Given the description of an element on the screen output the (x, y) to click on. 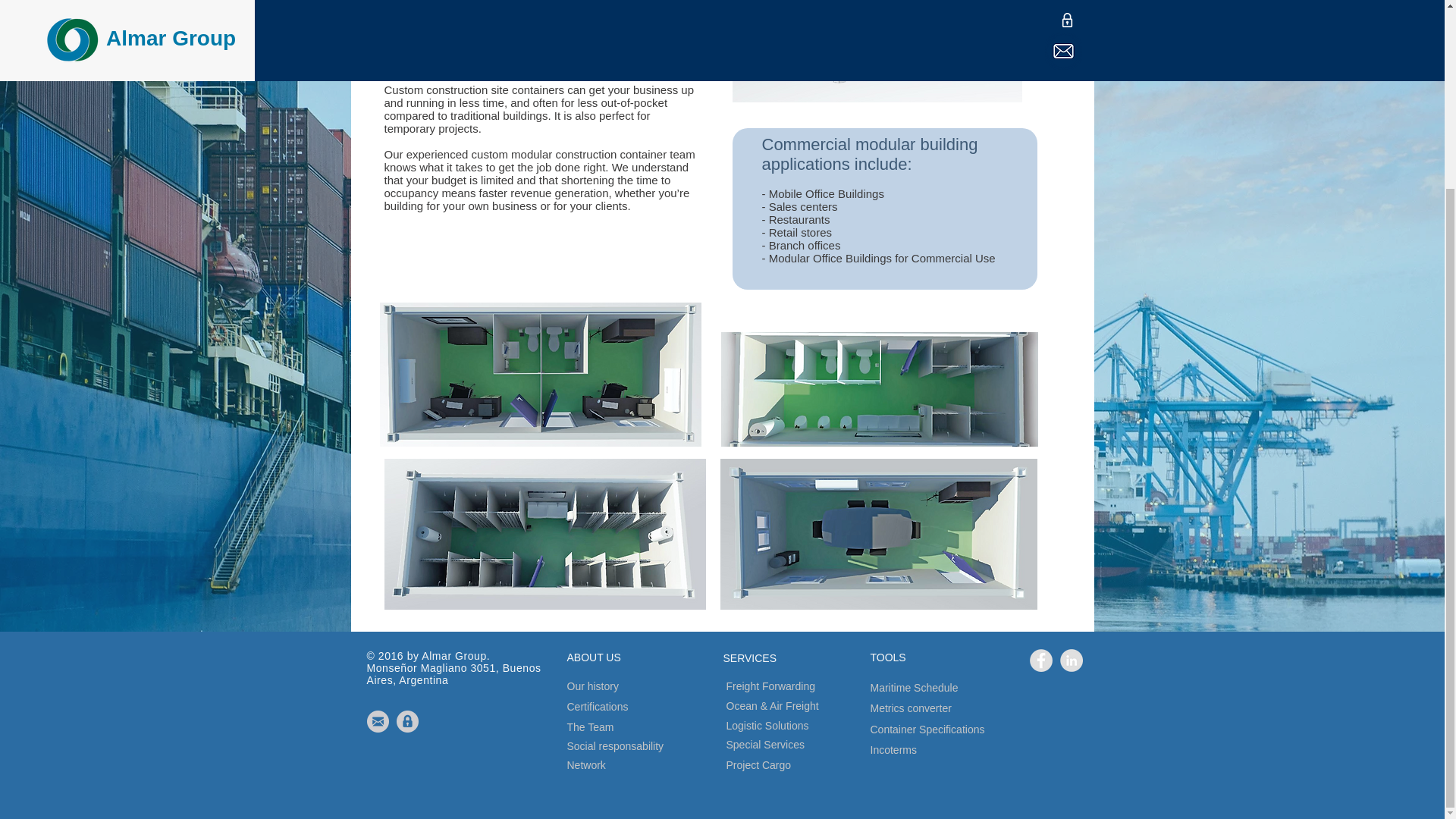
Maritime Schedule (954, 687)
Container Specifications (980, 729)
Freight Forwarding (812, 686)
Logistic Solutions (806, 725)
Our history (621, 686)
Social responsability (661, 746)
Network (621, 764)
Metrics converter (949, 708)
Incoterms (923, 750)
Project Cargo (789, 764)
